Given the description of an element on the screen output the (x, y) to click on. 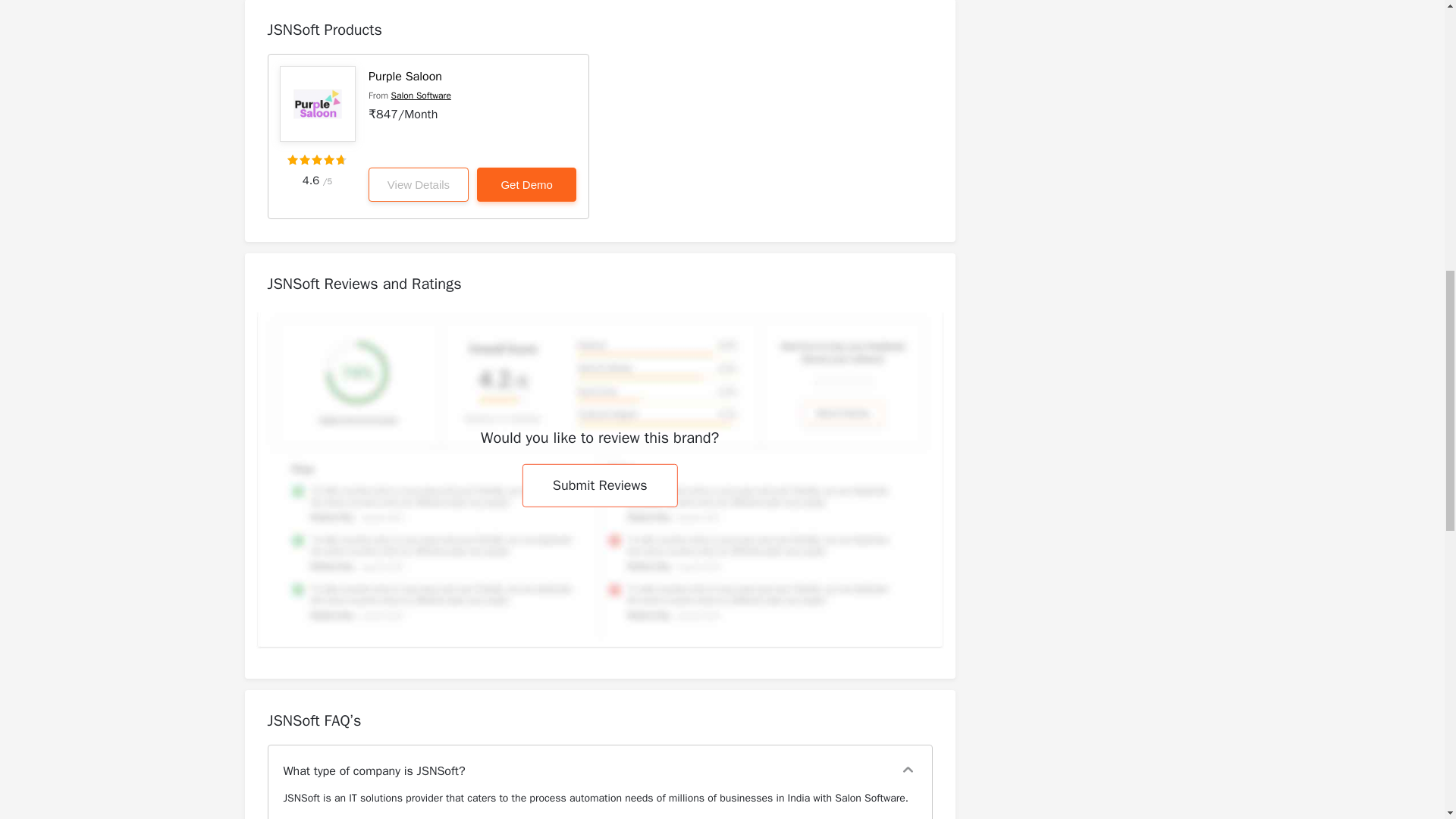
View Details (418, 184)
Get Demo (526, 184)
Salon Software (421, 95)
Purple Saloon (405, 76)
